Given the description of an element on the screen output the (x, y) to click on. 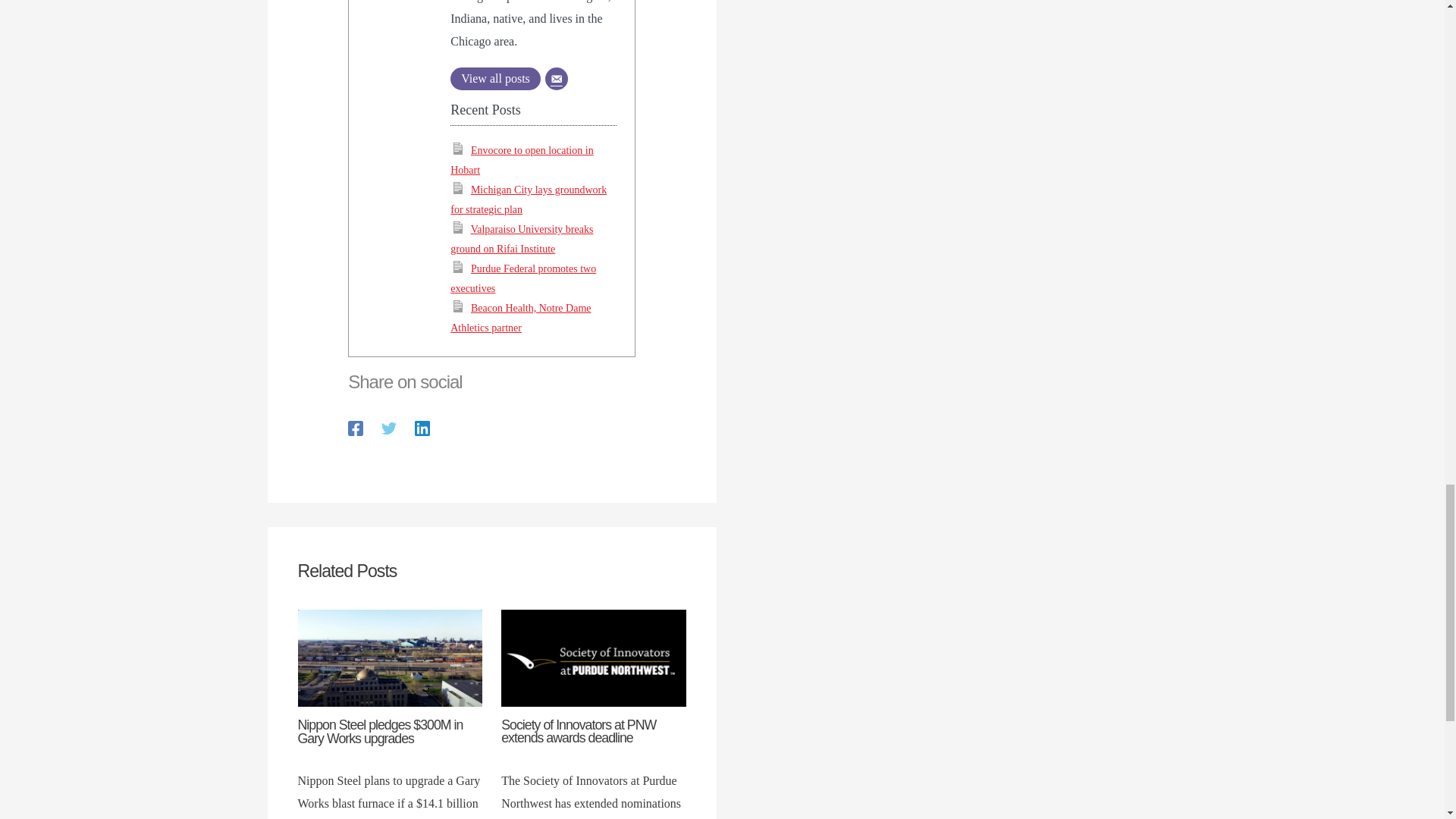
View all posts (494, 78)
Michigan City lays groundwork for strategic plan (528, 199)
Purdue Federal promotes two executives (522, 278)
Envocore to open location in Hobart (520, 160)
Beacon Health, Notre Dame Athletics partner (520, 317)
Valparaiso University breaks ground on Rifai Institute (520, 238)
